Given the description of an element on the screen output the (x, y) to click on. 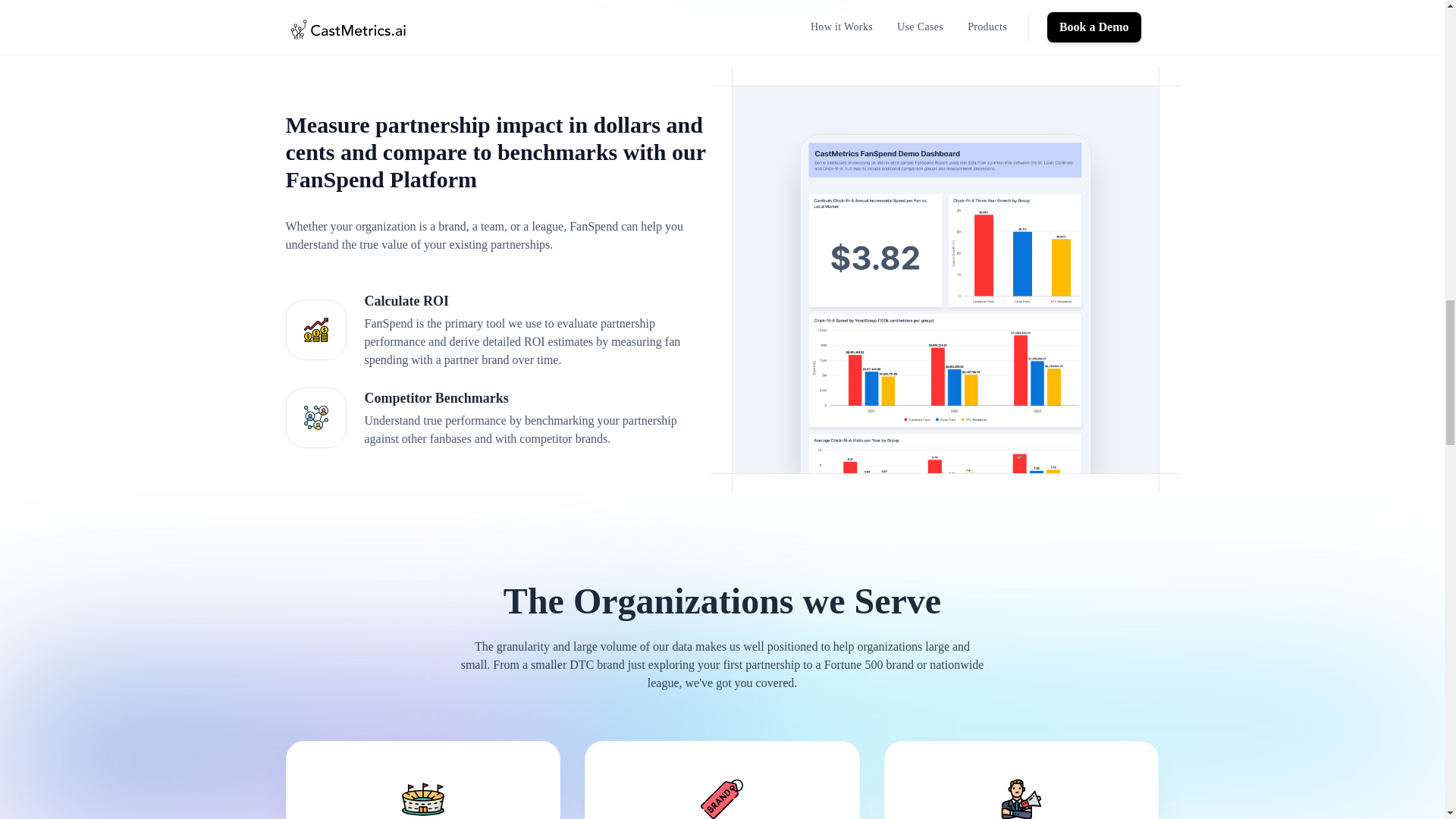
FanEngage (808, 4)
FanSpend (635, 4)
tab item (635, 4)
tab item (720, 4)
tab item (808, 4)
MarketPulse (720, 4)
